Given the description of an element on the screen output the (x, y) to click on. 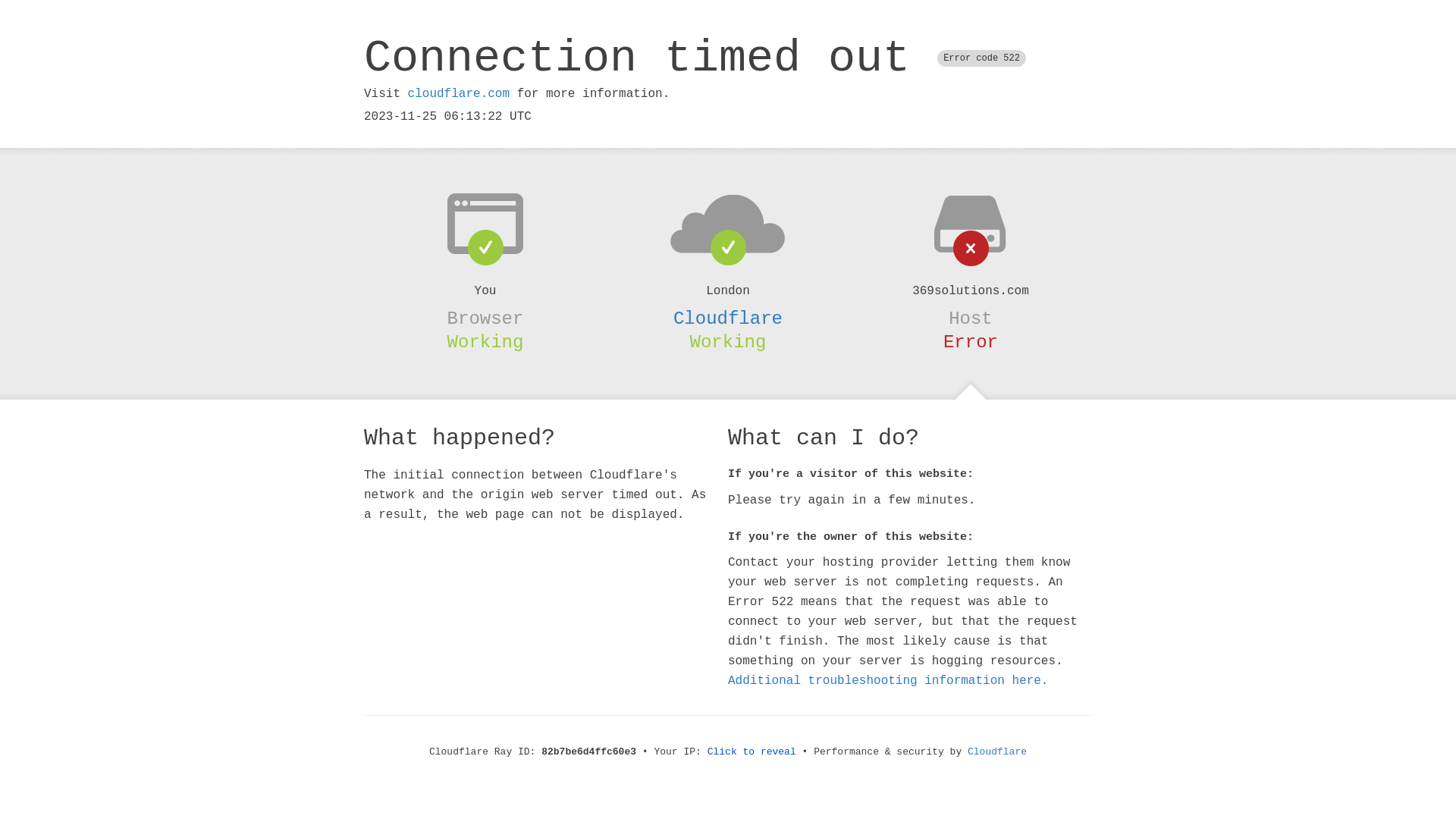
Click to reveal Element type: text (751, 751)
Cloudflare Element type: text (996, 751)
Additional troubleshooting information here. Element type: text (888, 680)
Cloudflare Element type: text (727, 318)
cloudflare.com Element type: text (458, 93)
